Given the description of an element on the screen output the (x, y) to click on. 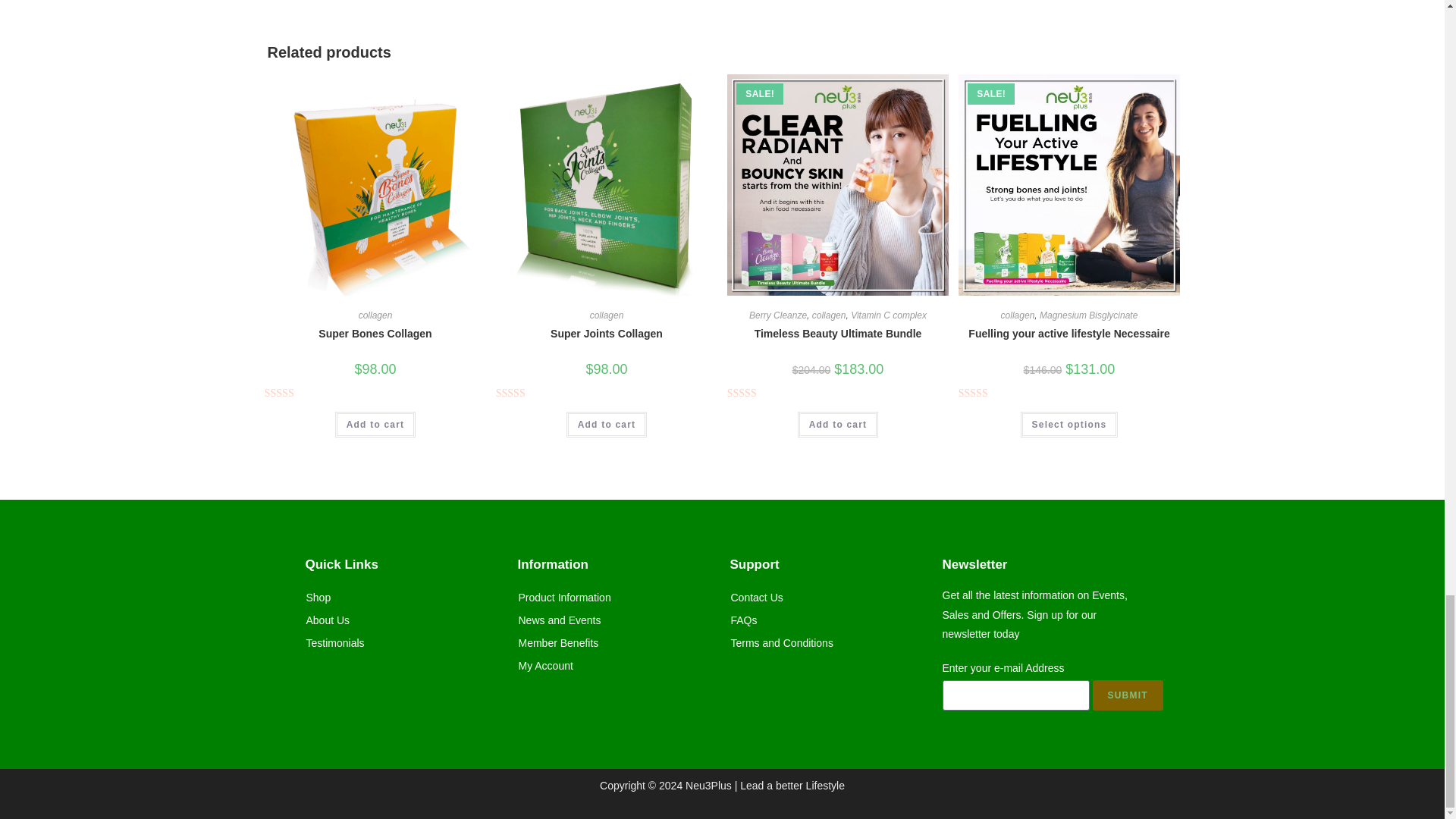
Minimum qty is 1 (1069, 424)
Minimum qty is 1 (375, 424)
Minimum qty is 1 (838, 424)
Minimum qty is 1 (606, 424)
